Given the description of an element on the screen output the (x, y) to click on. 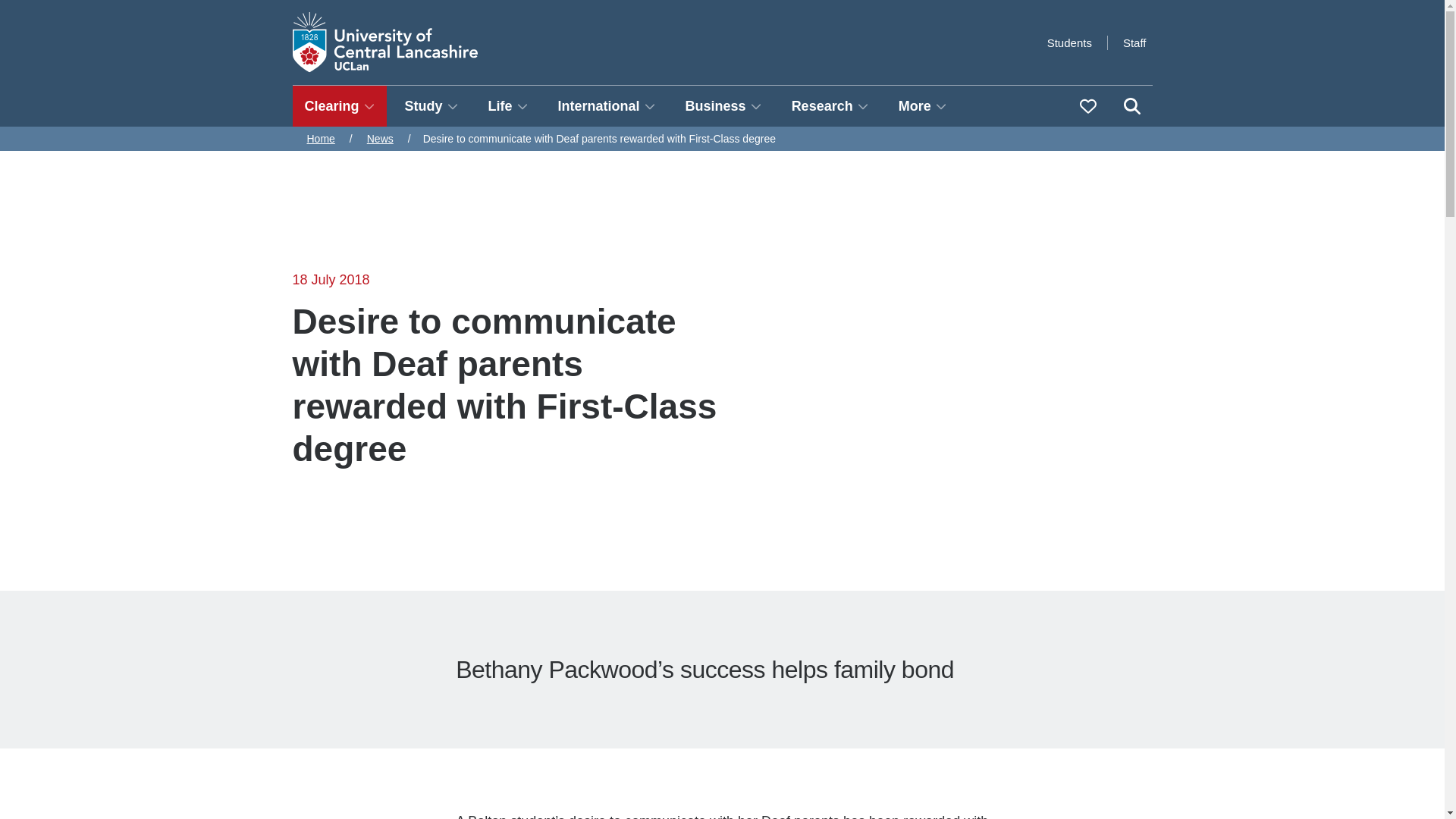
Students (1069, 42)
Staff (1134, 42)
Study (431, 105)
Clearing (339, 105)
Life (508, 105)
